Given the description of an element on the screen output the (x, y) to click on. 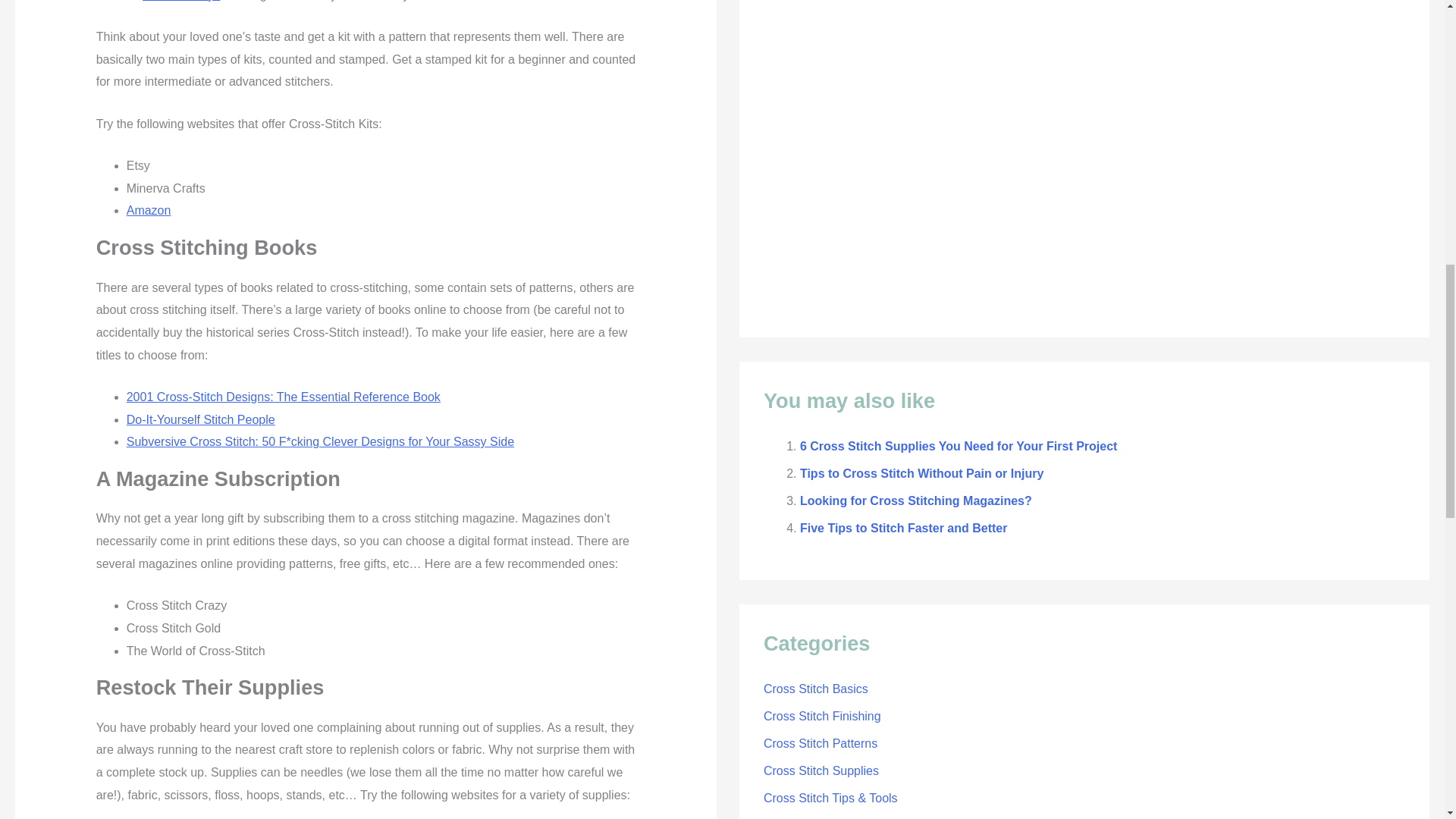
Amazon (148, 210)
Do-It-Yourself Stitch People (200, 419)
Louise Maelys (180, 0)
Amazon (148, 210)
2001 Cross-Stitch Designs: The Essential Reference Book (283, 396)
Tips to Cross Stitch Without Pain or Injury (921, 472)
Do-It-Yourself Stitch People (200, 419)
Looking for Cross Stitching Magazines? (915, 500)
6 Cross Stitch Supplies You Need for Your First Project (957, 445)
Five Tips to Stitch Faster and Better (903, 527)
Cross Stitch Patterns (819, 743)
2001 Cross-Stitch Designs: The Essential Reference Book (283, 396)
Louise Maelys (180, 0)
Cross Stitch Basics (814, 688)
Cross Stitch Finishing (821, 716)
